Given the description of an element on the screen output the (x, y) to click on. 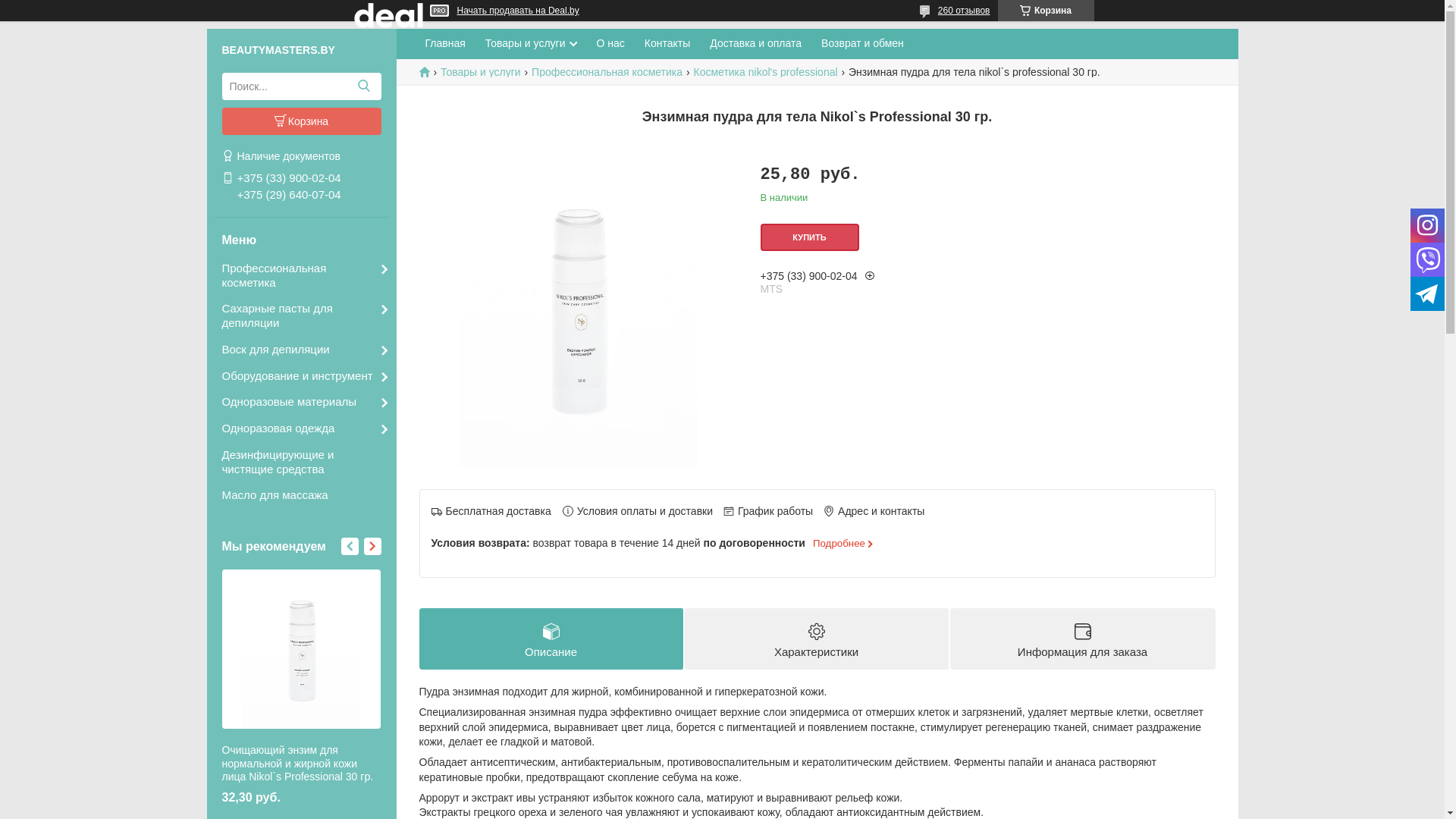
Beautymasters.by Element type: hover (428, 71)
